Given the description of an element on the screen output the (x, y) to click on. 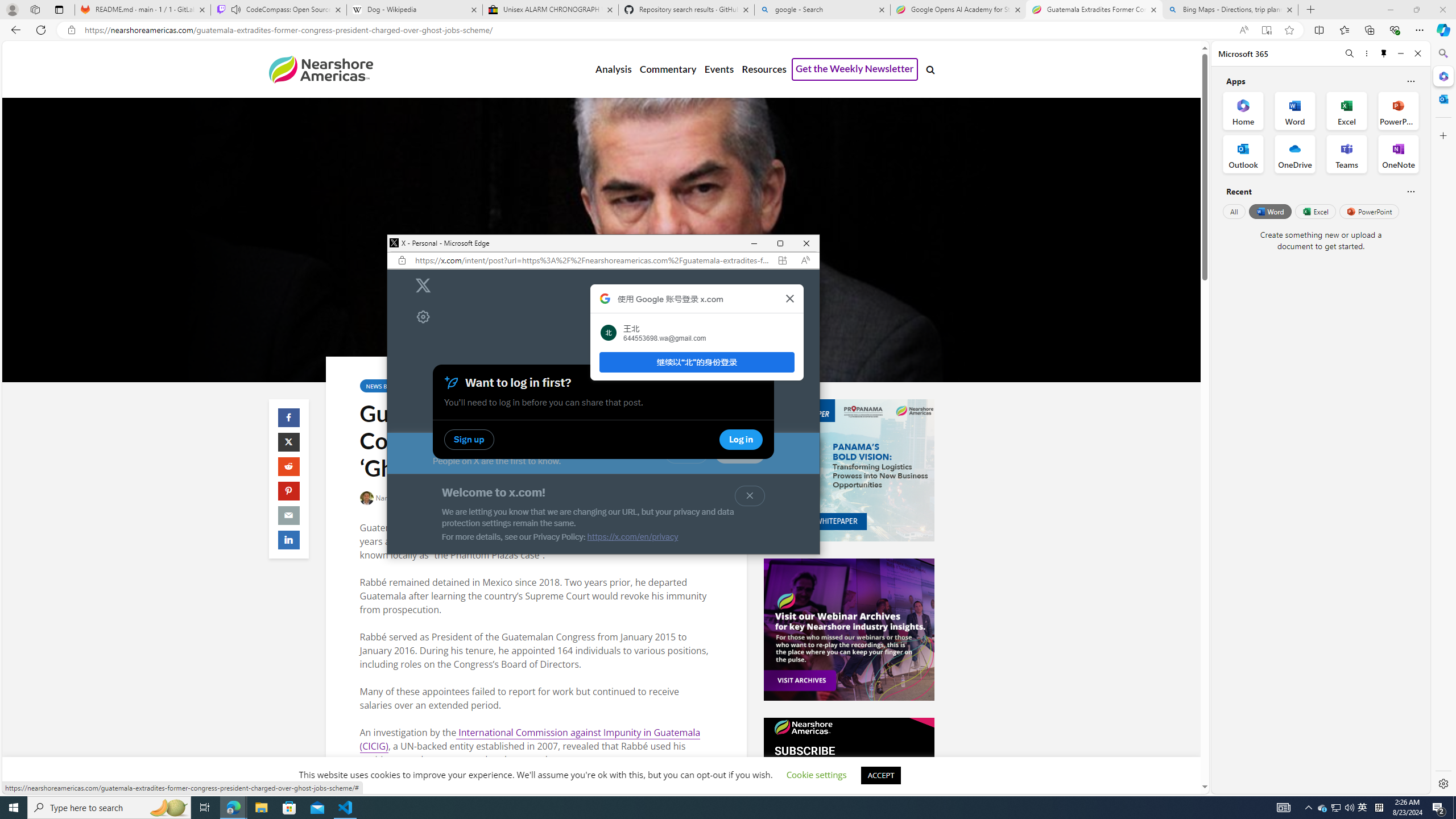
Analysis (613, 69)
https://x.com/en/privacy (632, 536)
Log in (687, 453)
Get the Weekly Newsletter (854, 69)
